Given the description of an element on the screen output the (x, y) to click on. 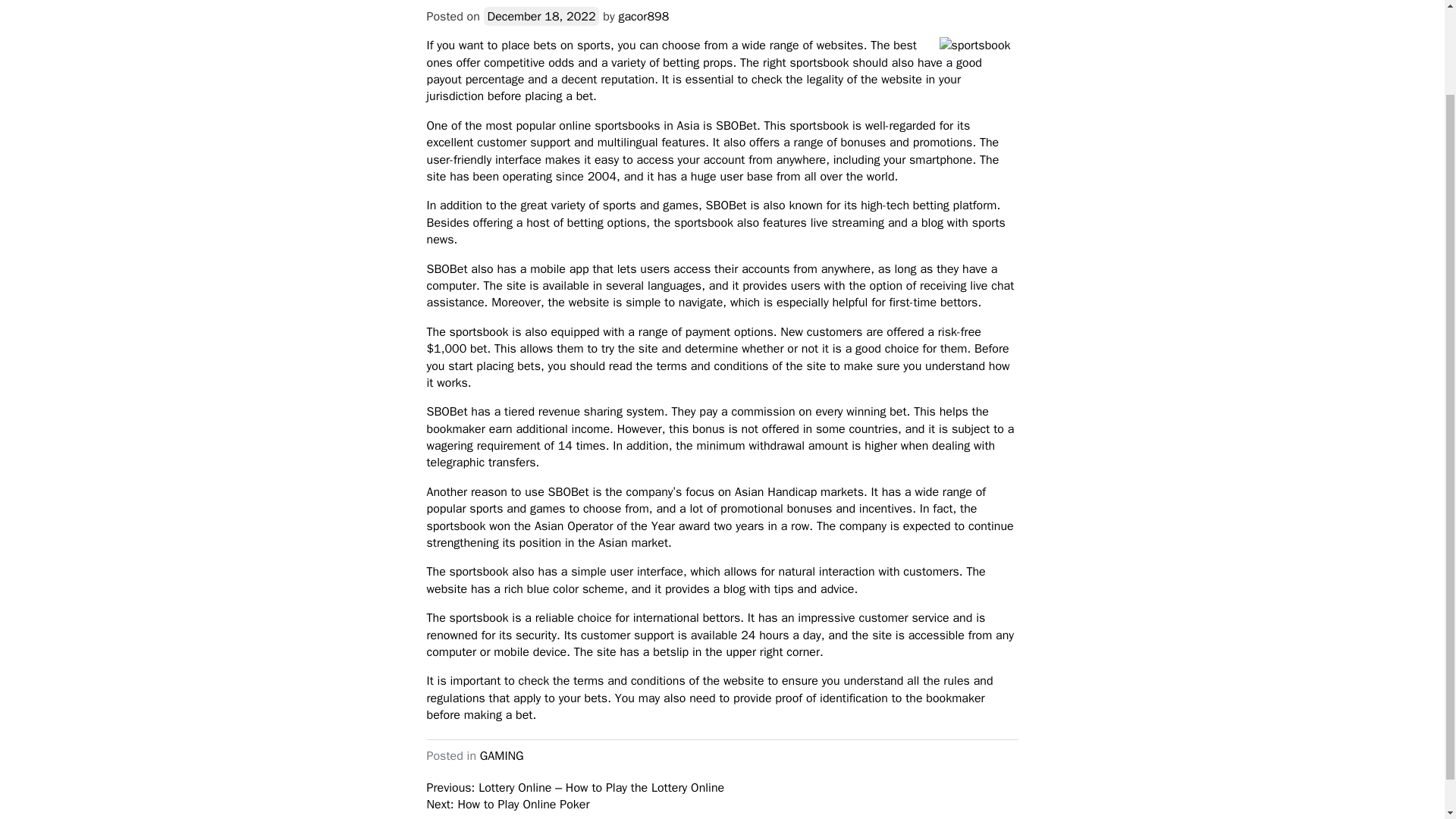
Next: How to Play Online Poker (507, 804)
December 18, 2022 (541, 15)
GAMING (502, 755)
